Given the description of an element on the screen output the (x, y) to click on. 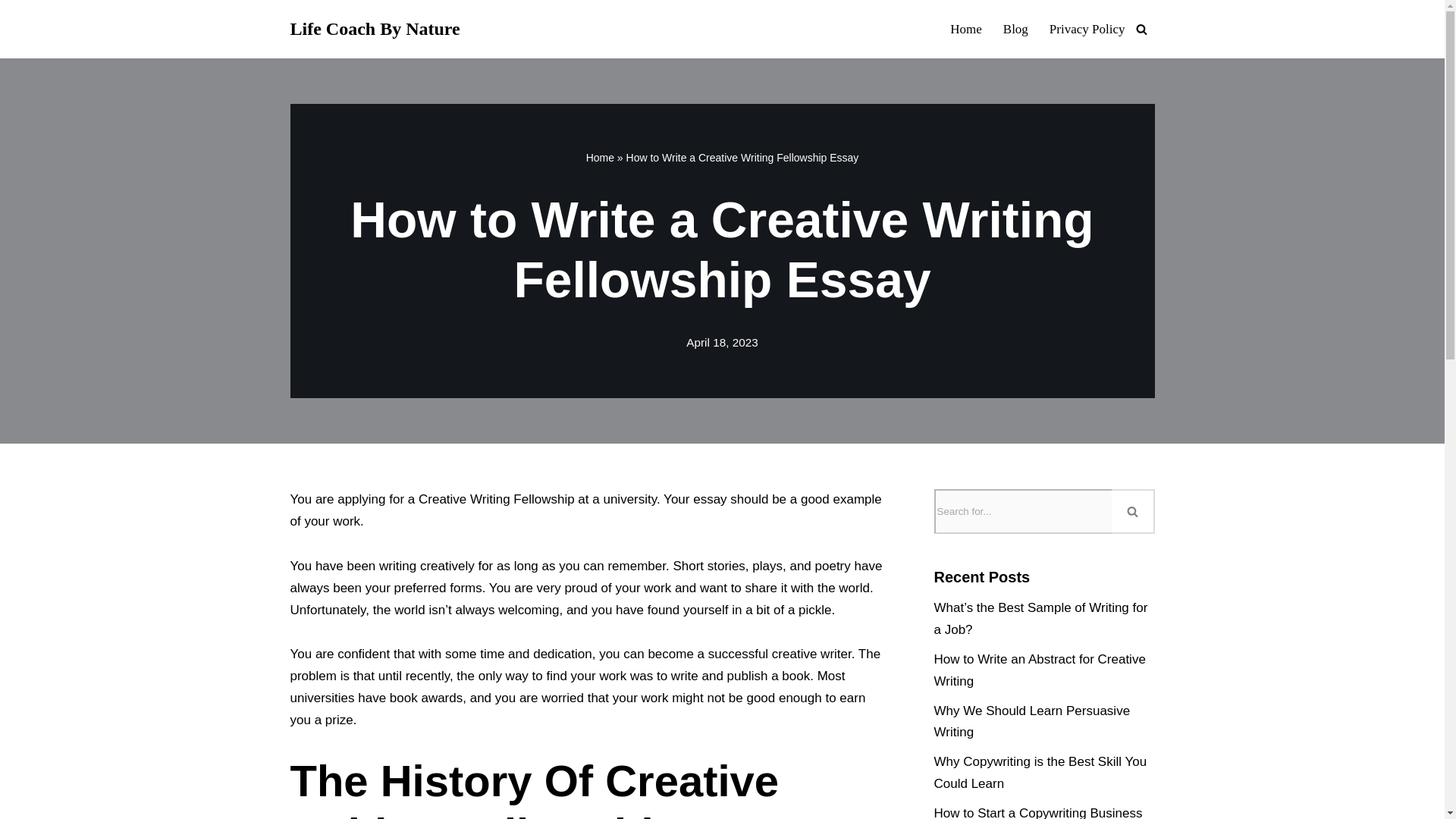
Why Copywriting is the Best Skill You Could Learn (1040, 772)
How to Start a Copywriting Business (1038, 812)
Life Coach By Nature (374, 29)
Home (965, 28)
Life Coach By Nature (374, 29)
How to Write an Abstract for Creative Writing (1039, 669)
Skip to content (11, 31)
Privacy Policy (1087, 28)
Why We Should Learn Persuasive Writing (1032, 721)
Blog (1015, 28)
Home (600, 157)
